Given the description of an element on the screen output the (x, y) to click on. 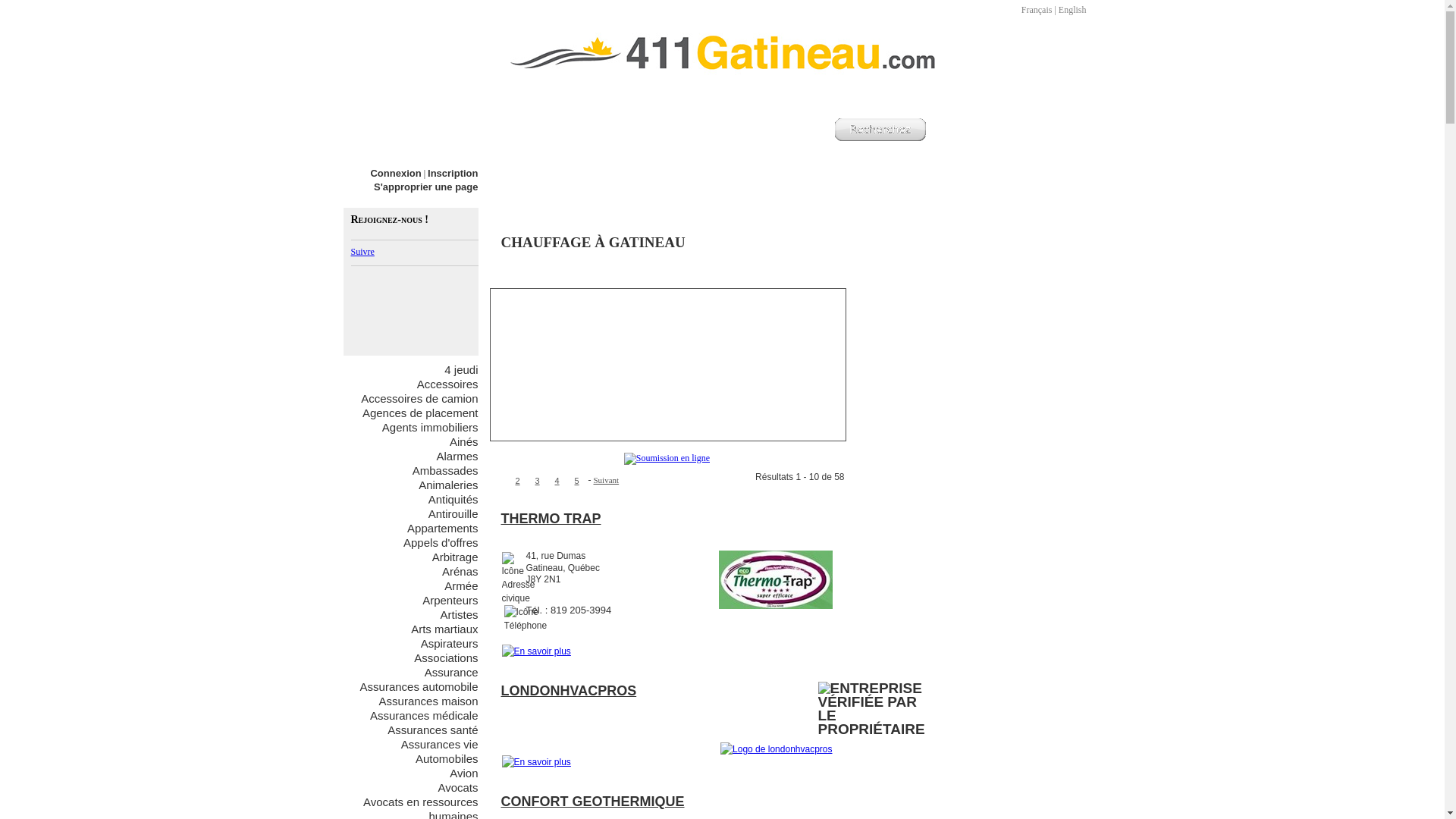
CONFORT GEOTHERMIQUE Element type: text (592, 801)
THERMO TRAP Element type: text (550, 518)
Artistes Element type: text (458, 614)
4 Element type: text (557, 480)
LONDONHVACPROS Element type: text (568, 690)
English Element type: text (1072, 9)
Connexion Element type: text (395, 172)
1 Element type: text (494, 478)
Accessoires de camion Element type: text (418, 398)
Assurances automobile Element type: text (419, 686)
Avocats Element type: text (457, 787)
Inscription Element type: text (452, 172)
Associations Element type: text (445, 657)
Accessoires Element type: text (447, 383)
Assurance Element type: text (451, 671)
Appartements Element type: text (442, 527)
Aspirateurs Element type: text (449, 643)
Assurances vie Element type: text (439, 743)
Ambassades Element type: text (445, 470)
Agences de placement Element type: text (420, 412)
4 jeudi Element type: text (460, 369)
Arts martiaux Element type: text (444, 628)
Appels d'offres Element type: text (440, 542)
Suivre Element type: text (361, 251)
Alarmes Element type: text (456, 455)
Arbitrage Element type: text (455, 556)
5 Element type: text (576, 480)
Automobiles Element type: text (446, 758)
Suivant Element type: text (605, 479)
2 Element type: text (517, 480)
Agents immobiliers Element type: text (430, 426)
Arpenteurs Element type: text (449, 599)
Animaleries Element type: text (447, 484)
Antirouille Element type: text (453, 513)
Assurances maison Element type: text (428, 700)
3 Element type: text (537, 480)
S'approprier une page Element type: text (425, 186)
Avion Element type: text (463, 772)
